Given the description of an element on the screen output the (x, y) to click on. 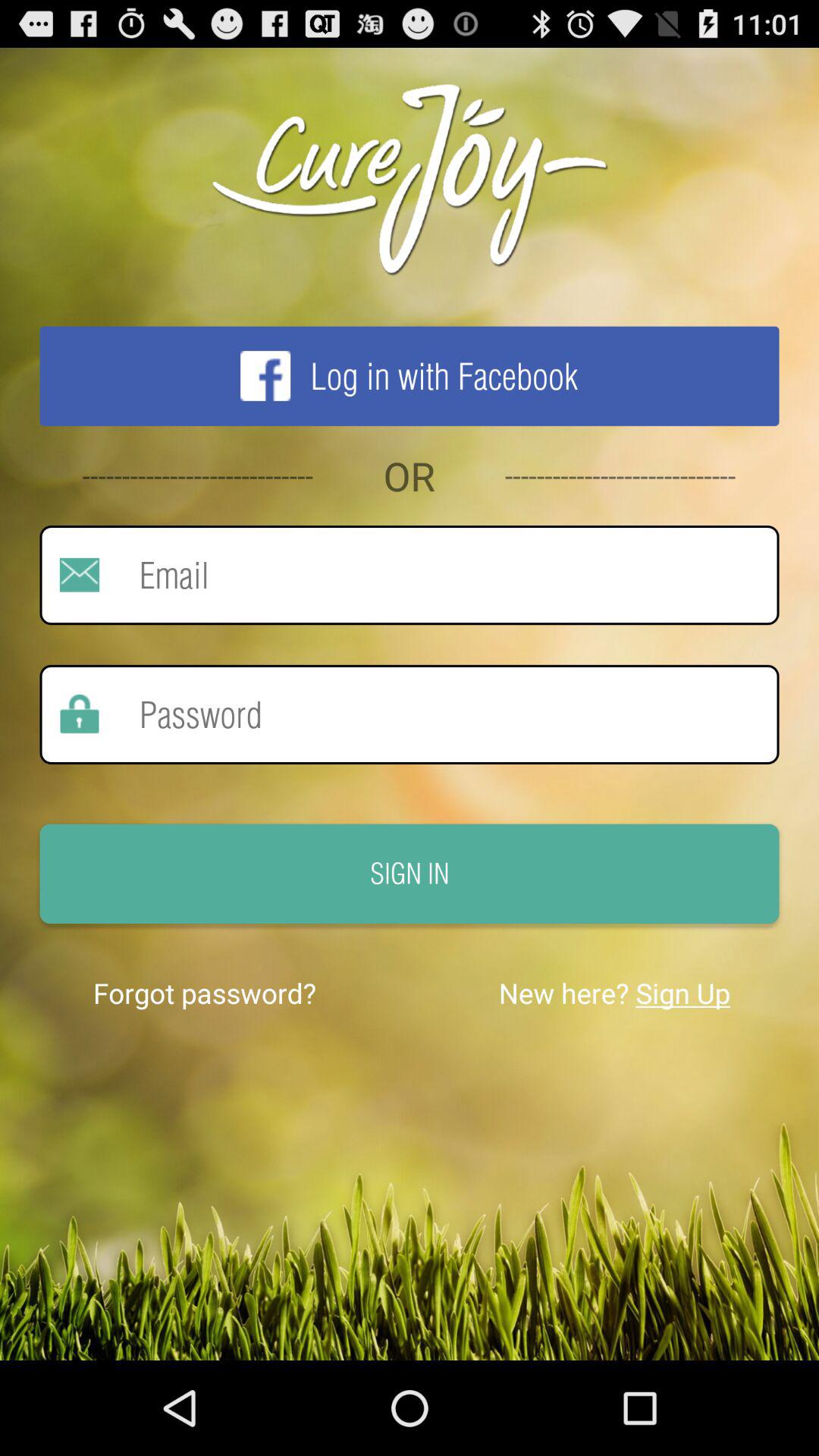
email (439, 575)
